Given the description of an element on the screen output the (x, y) to click on. 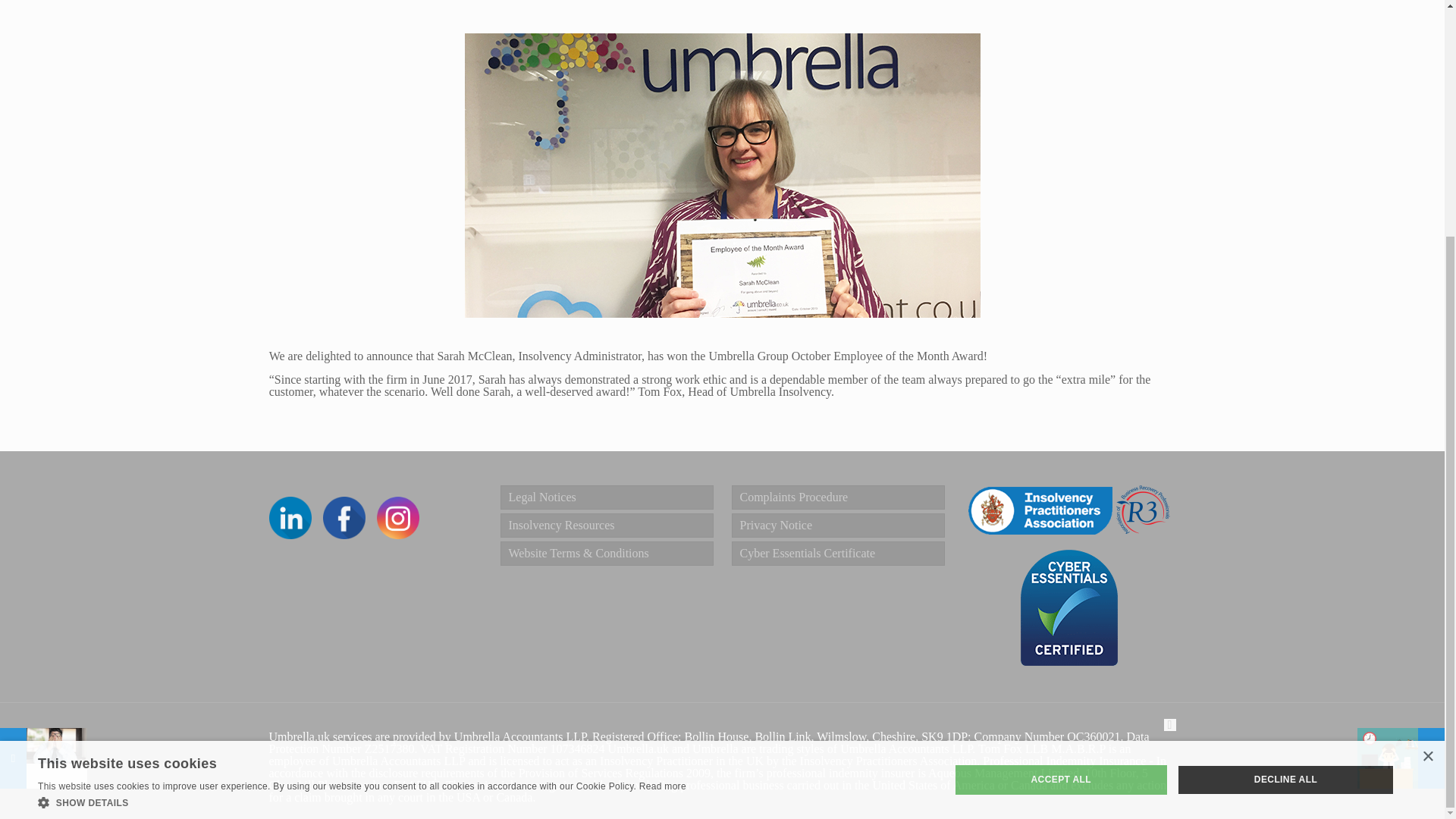
Legal Notices (606, 497)
